Given the description of an element on the screen output the (x, y) to click on. 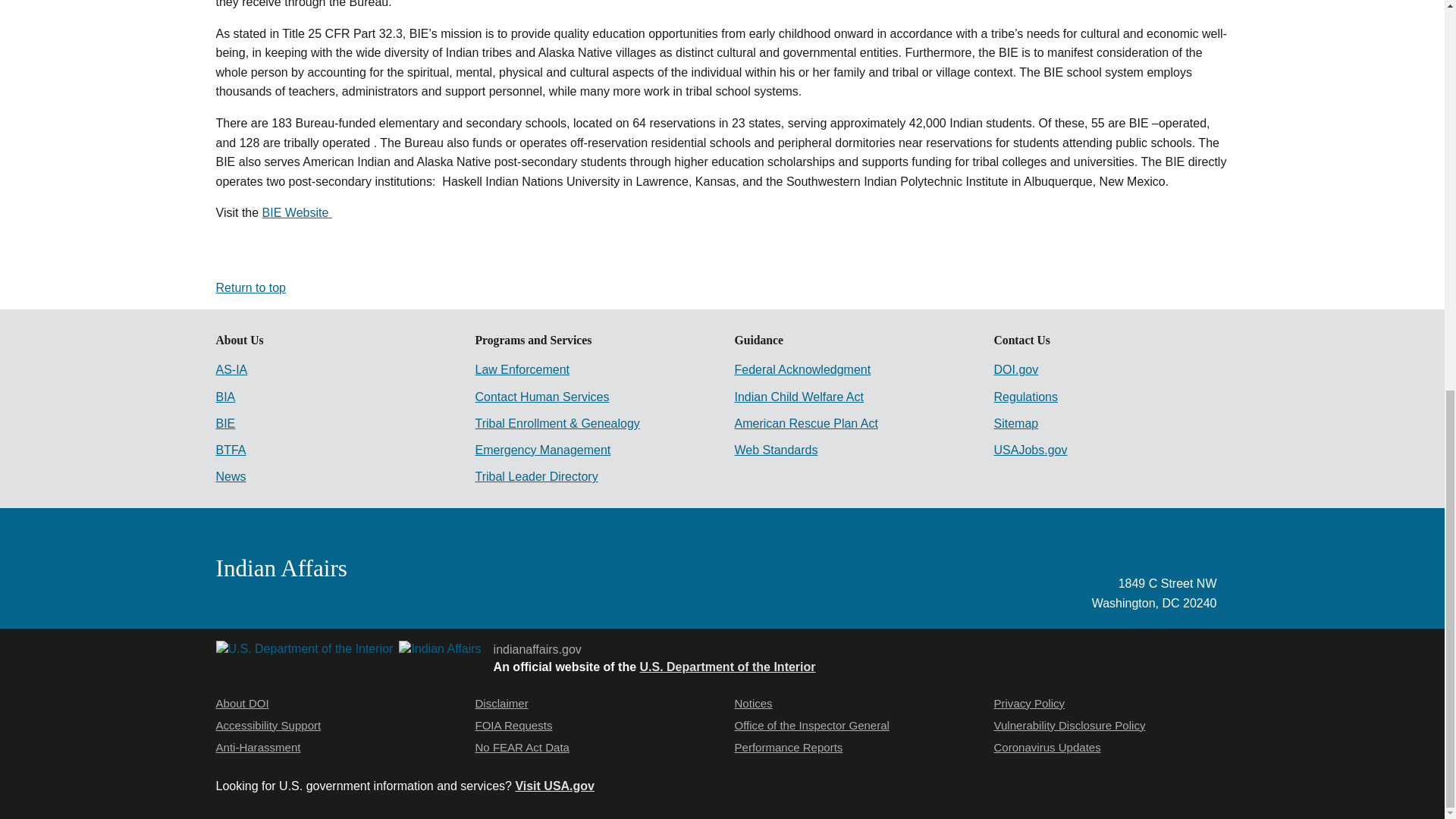
BTFA (230, 449)
BIE (224, 422)
USAJobs.gov (1029, 449)
Regulations (1025, 396)
Tribal Leader Directory (535, 476)
Web Standards (774, 449)
Sitemap (1015, 422)
BIA (224, 396)
U.S. Department of the Interior (727, 666)
Federal Acknowledgment (801, 369)
